Given the description of an element on the screen output the (x, y) to click on. 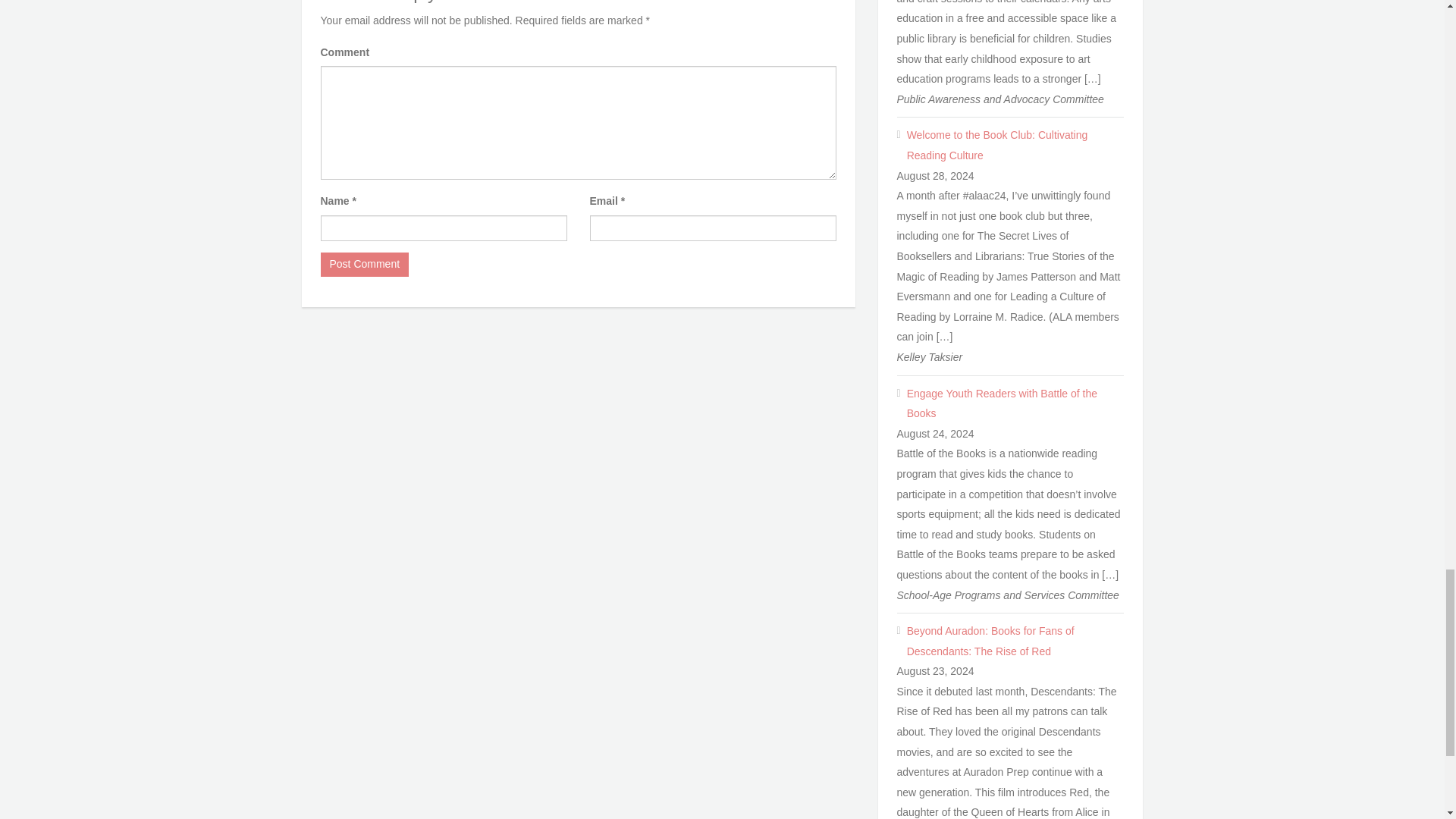
Post Comment (364, 264)
Welcome to the Book Club: Cultivating Reading Culture (1015, 145)
Engage Youth Readers with Battle of the Books (1015, 404)
Post Comment (364, 264)
